Given the description of an element on the screen output the (x, y) to click on. 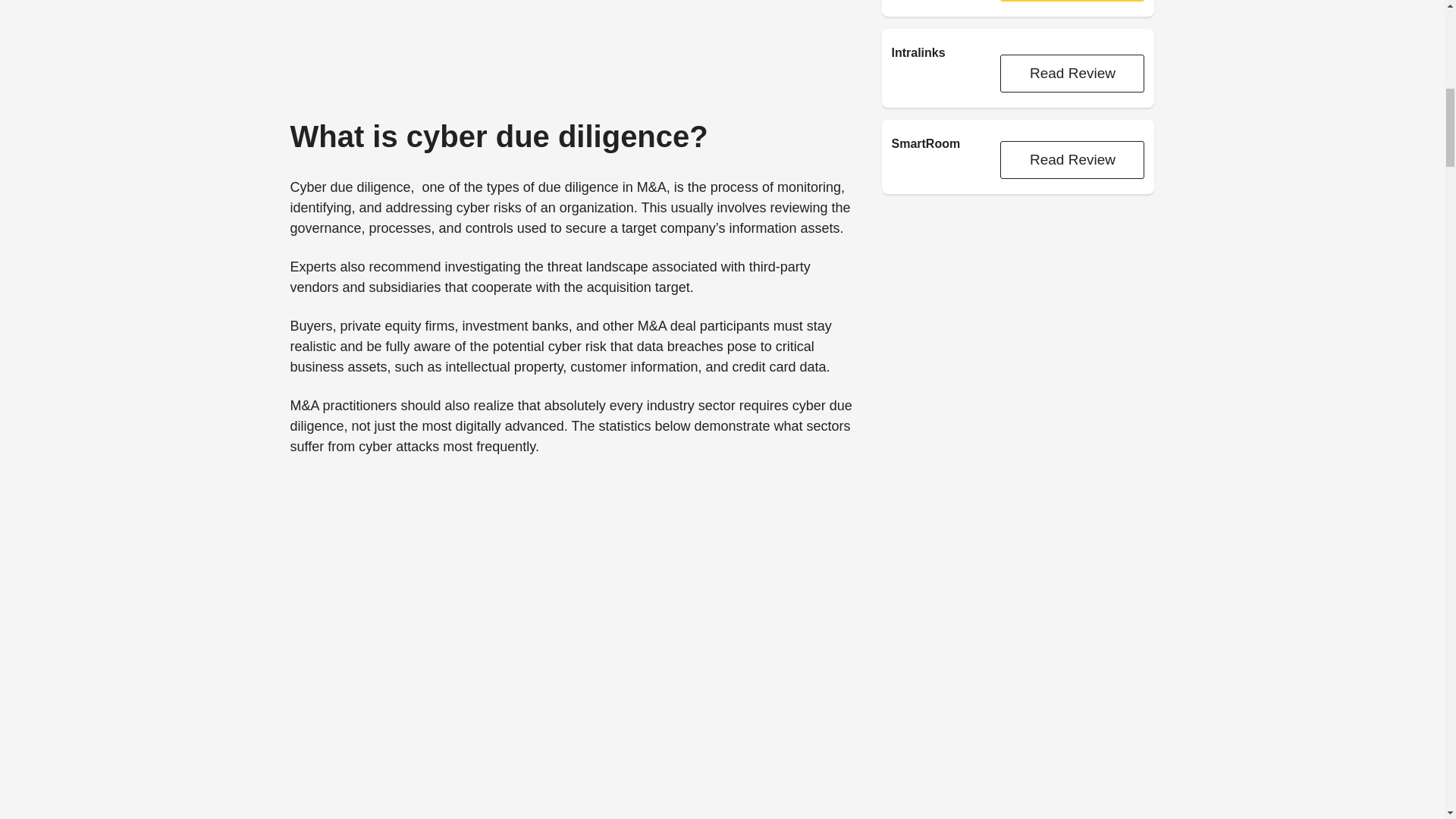
Read Review (1072, 1)
Read Review (1072, 159)
Read Review (1072, 73)
